Given the description of an element on the screen output the (x, y) to click on. 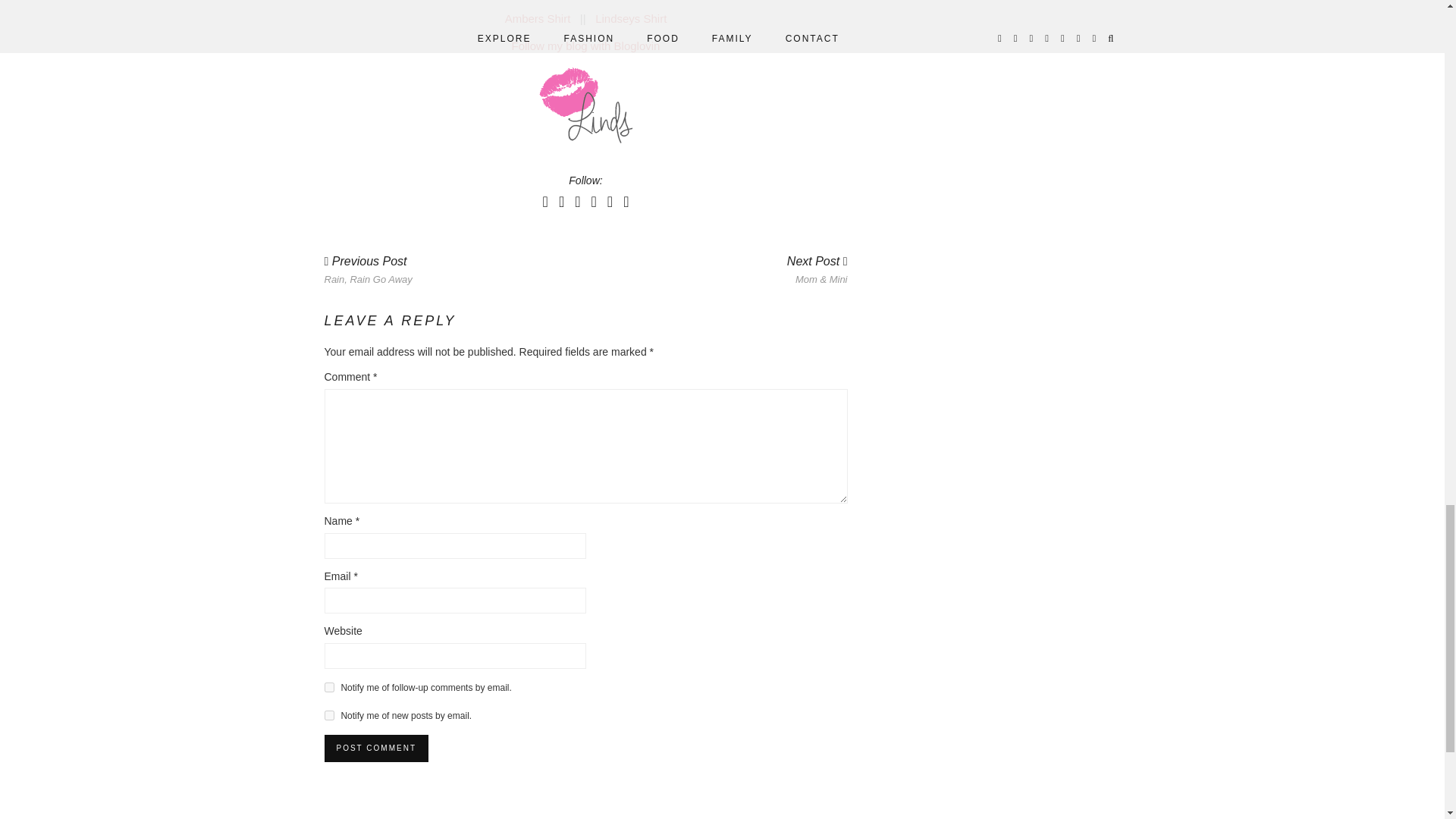
Post Comment (376, 748)
Lindseys Shirt (630, 18)
Follow my blog with Bloglovin (586, 45)
Ambers Shirt (368, 270)
subscribe (537, 18)
subscribe (329, 687)
Post Comment (329, 715)
